Given the description of an element on the screen output the (x, y) to click on. 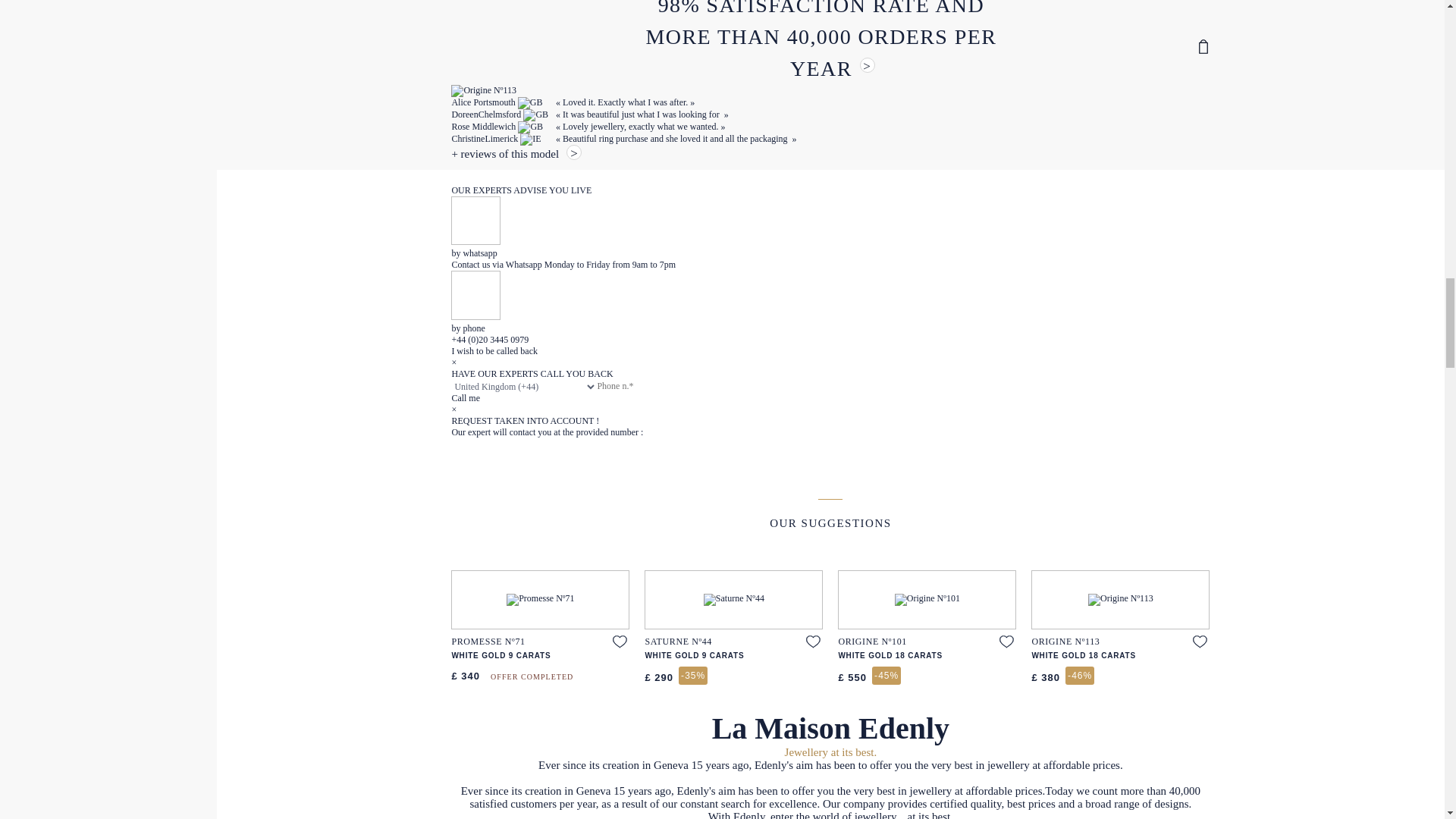
Your phone number does not seem valid (651, 386)
